Given the description of an element on the screen output the (x, y) to click on. 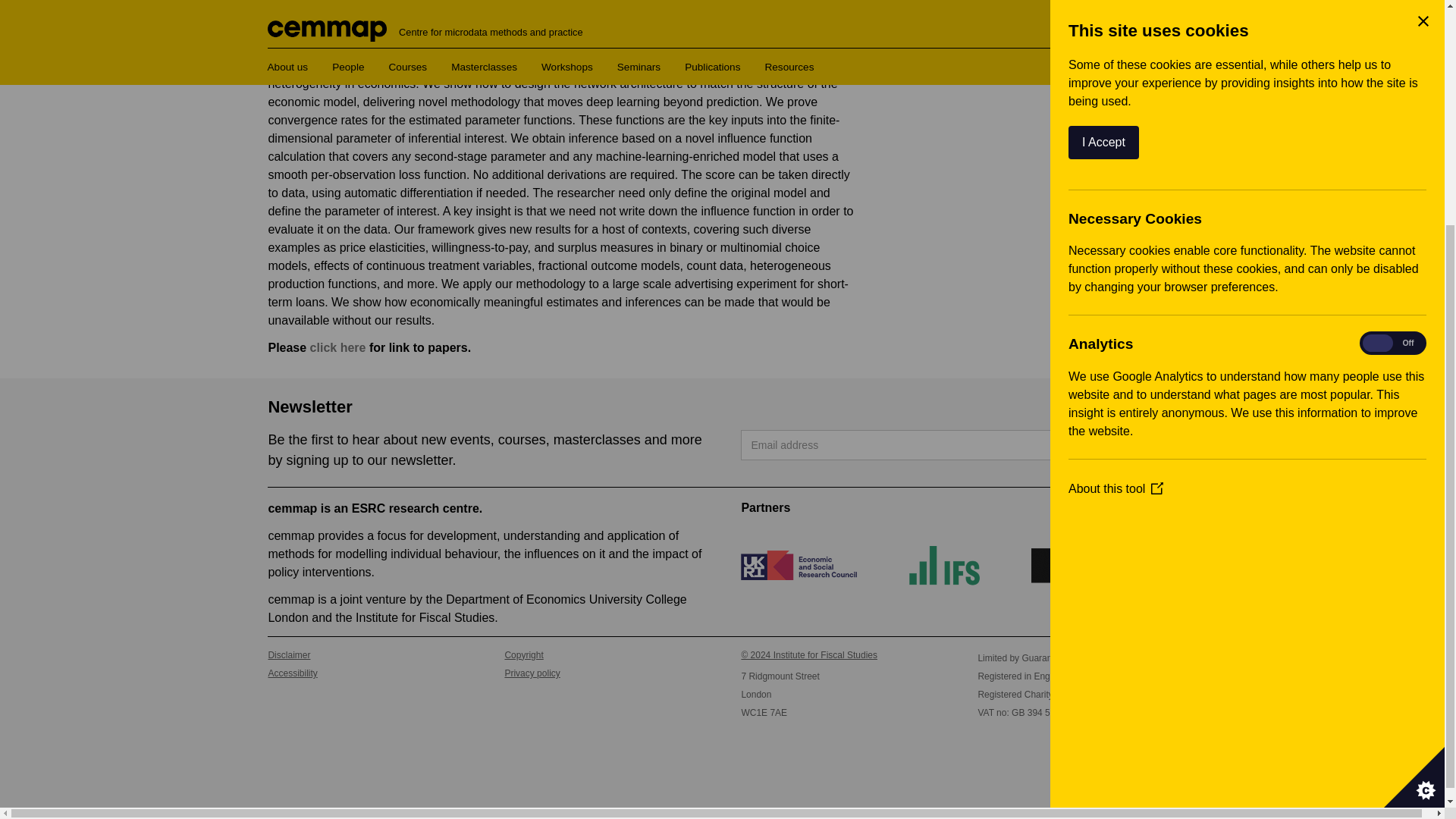
Privacy policy (603, 673)
Accessibility (366, 673)
Submit (1132, 444)
click here (338, 348)
Disclaimer (366, 655)
Copyright (603, 655)
Submit (1132, 444)
